Given the description of an element on the screen output the (x, y) to click on. 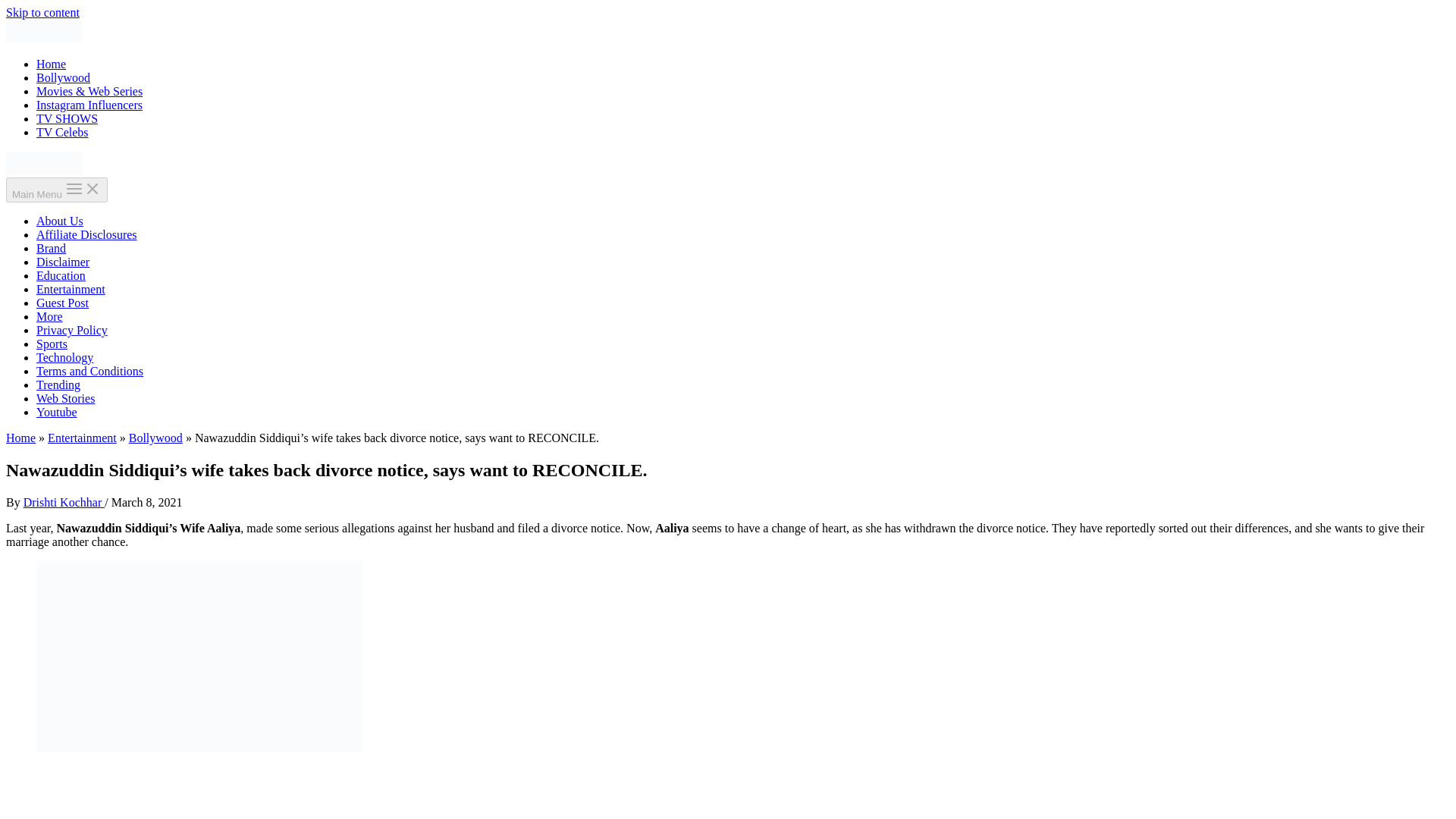
TV Celebs (62, 132)
Trending (58, 384)
Drishti Kochhar (63, 502)
About Us (59, 220)
More (49, 316)
Terms and Conditions (89, 370)
Main Menu (56, 189)
View all posts by Drishti Kochhar (63, 502)
Web Stories (65, 398)
Education (60, 275)
Guest Post (62, 302)
Skip to content (42, 11)
Technology (64, 357)
Home (50, 63)
Sports (51, 343)
